Given the description of an element on the screen output the (x, y) to click on. 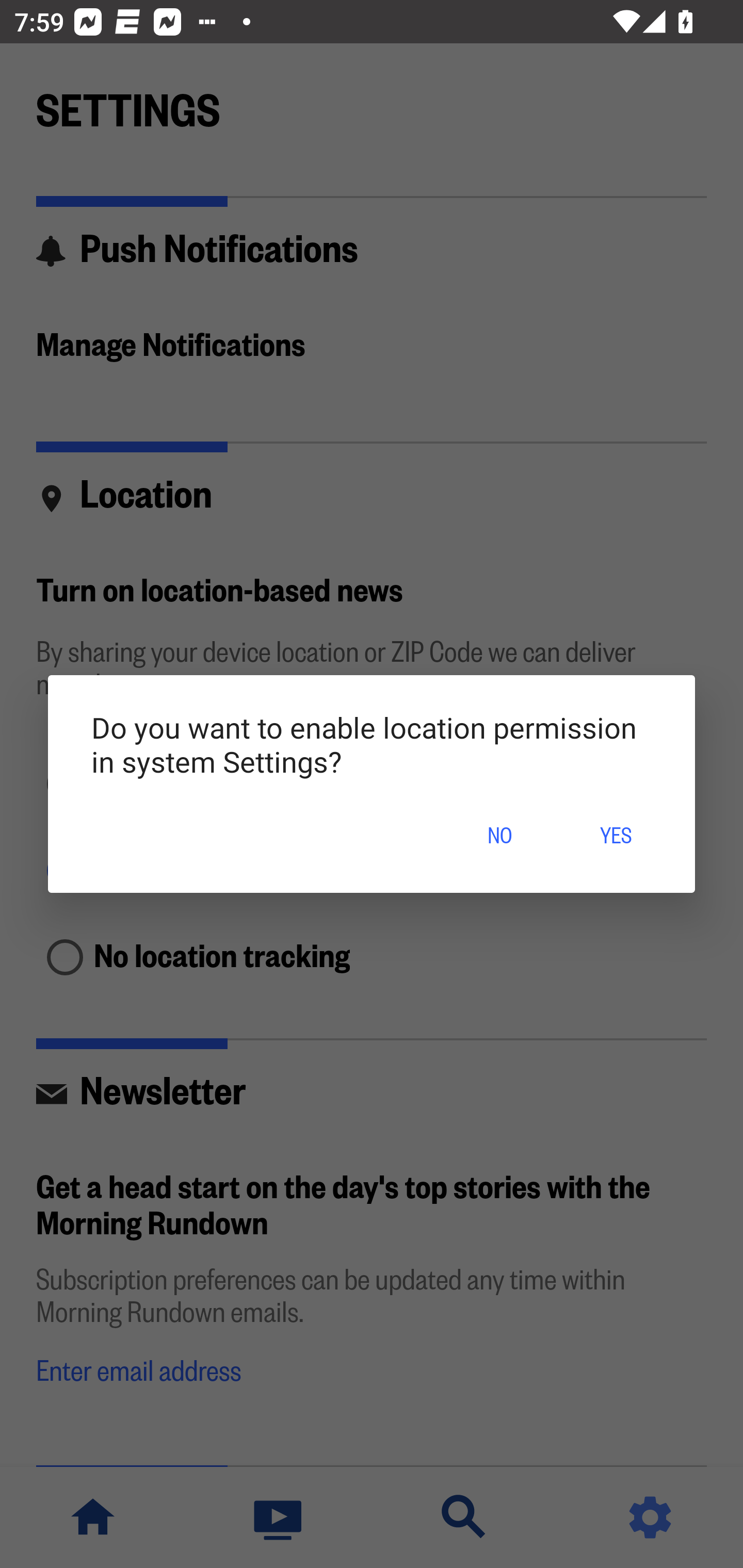
NO (499, 836)
YES (615, 836)
